Given the description of an element on the screen output the (x, y) to click on. 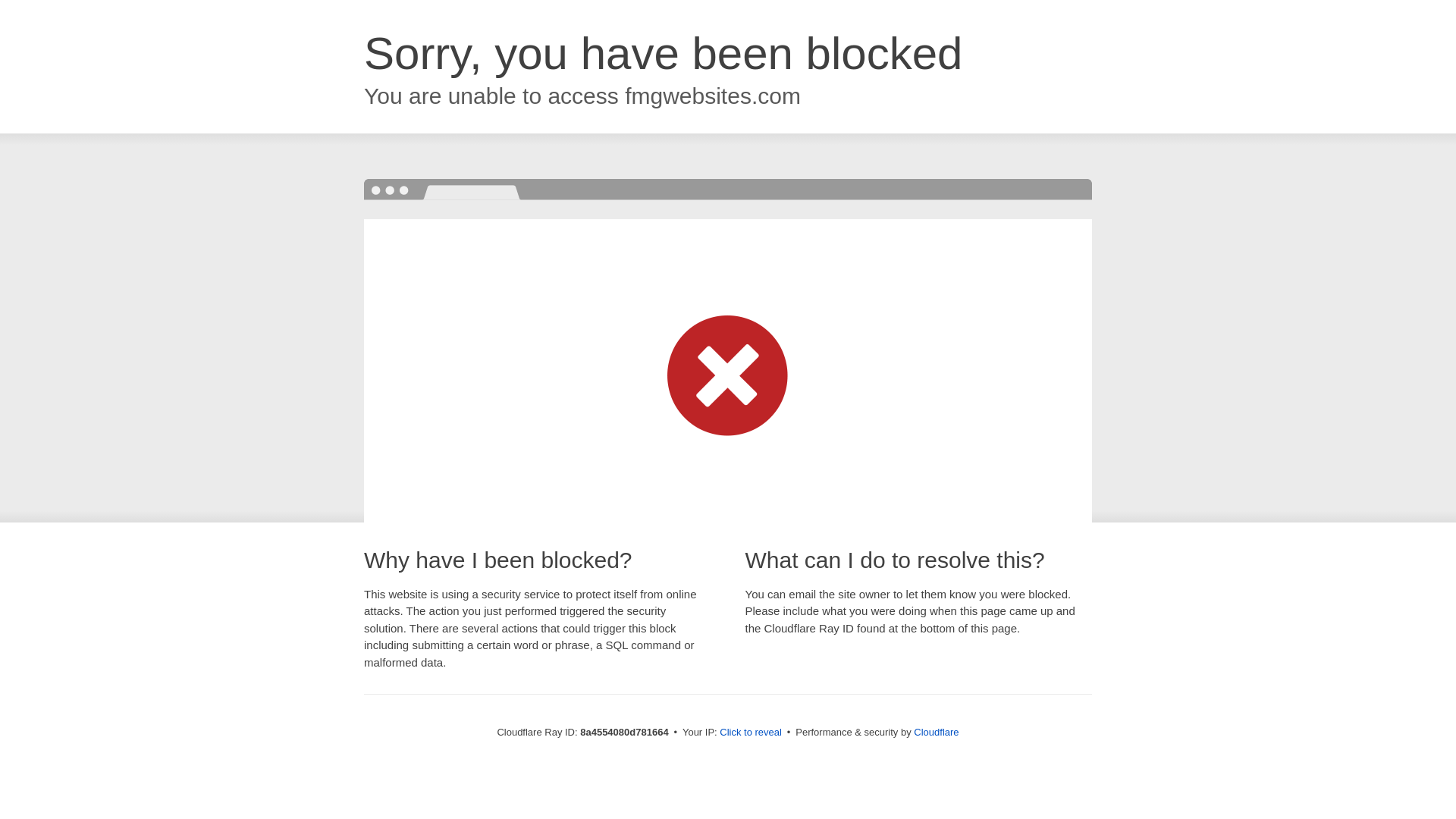
Cloudflare (936, 731)
Click to reveal (750, 732)
